Given the description of an element on the screen output the (x, y) to click on. 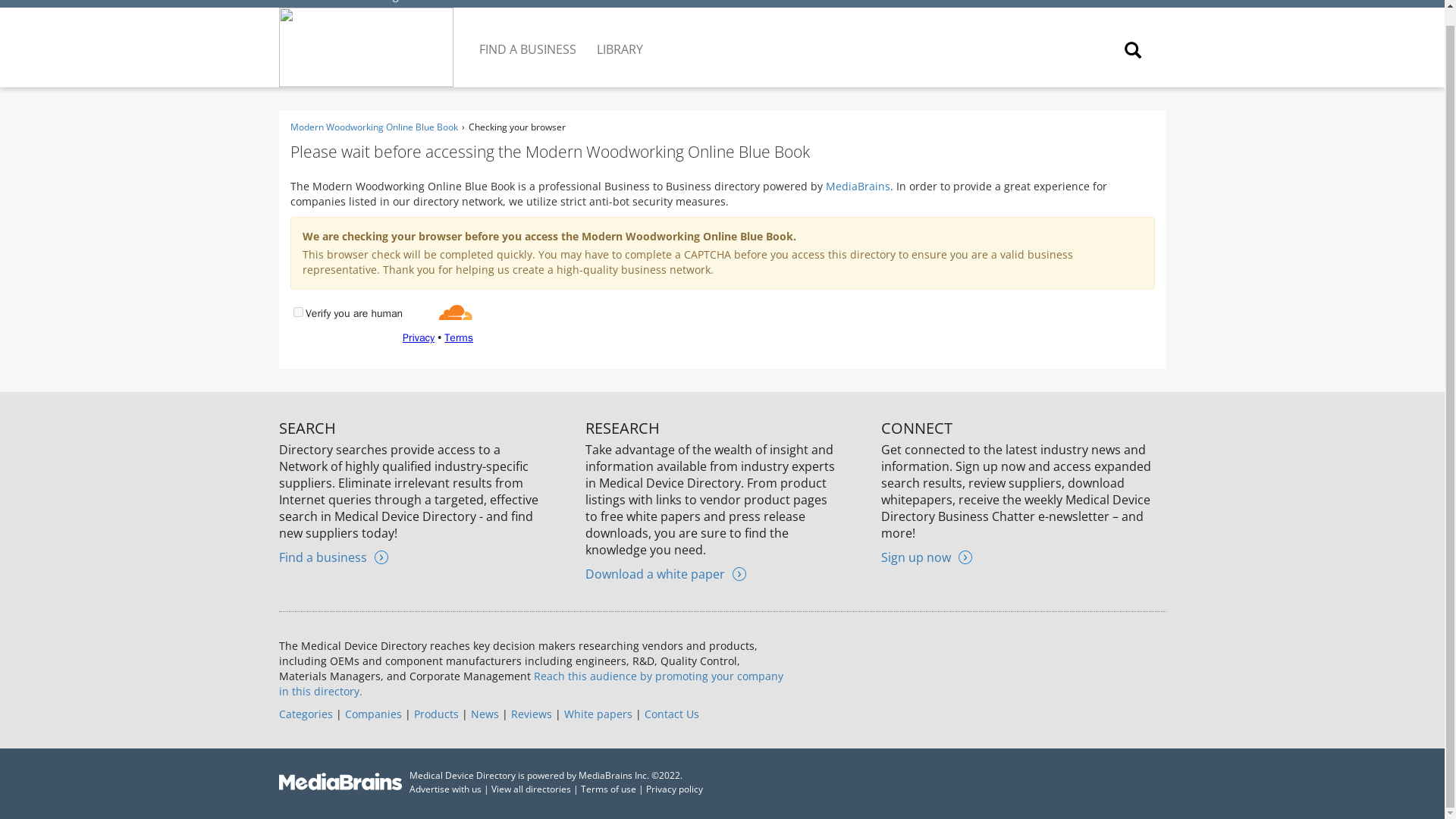
Terms of use (608, 788)
MediaBrains (857, 186)
Download a white paper (665, 573)
Products (435, 713)
LIBRARY (620, 37)
Contact Us (671, 713)
Advertise with us (445, 788)
Categories (306, 713)
Privacy policy (674, 788)
Companies (372, 713)
White papers (597, 713)
Find a business (333, 556)
Modern Woodworking Online Blue Book (373, 126)
FIND A BUSINESS (528, 37)
